Given the description of an element on the screen output the (x, y) to click on. 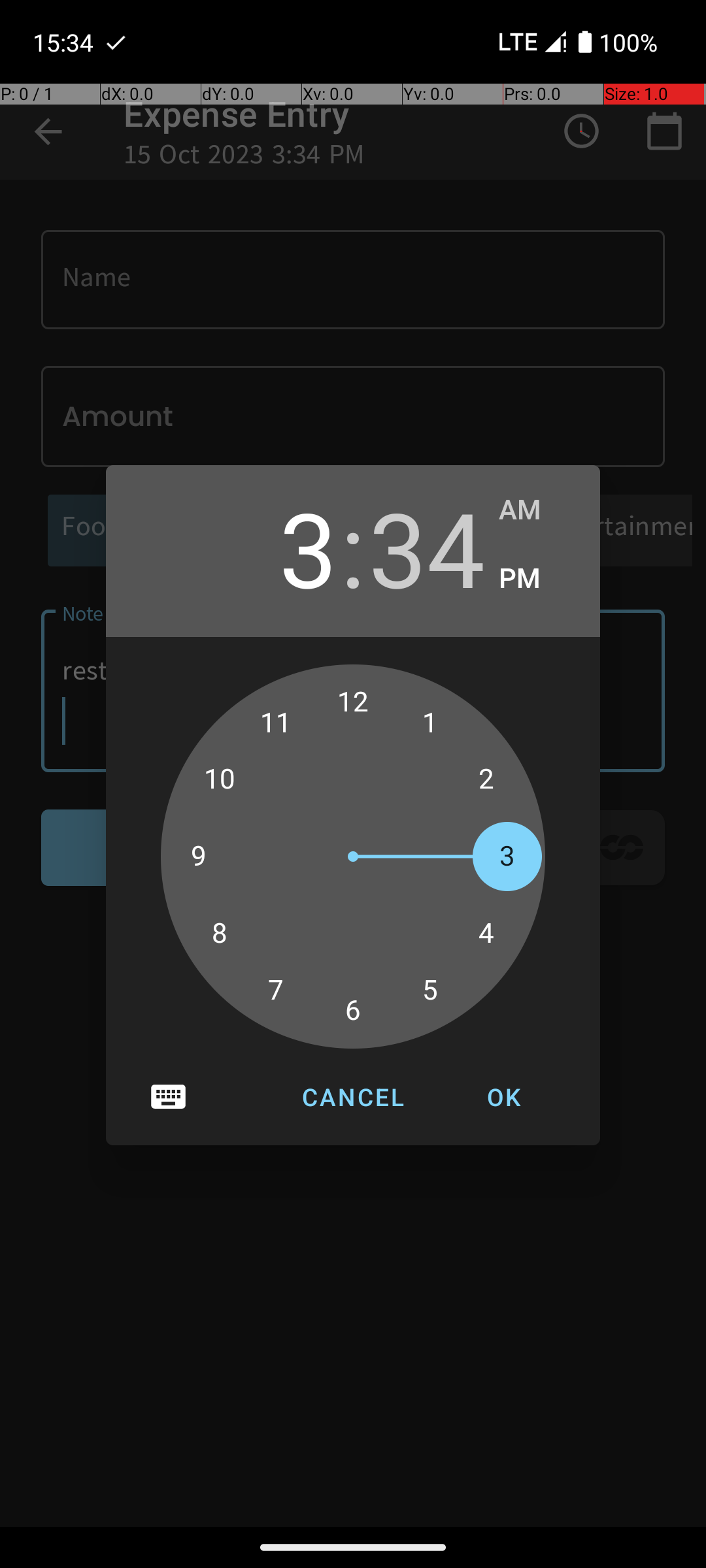
34 Element type: android.widget.TextView (426, 547)
